Given the description of an element on the screen output the (x, y) to click on. 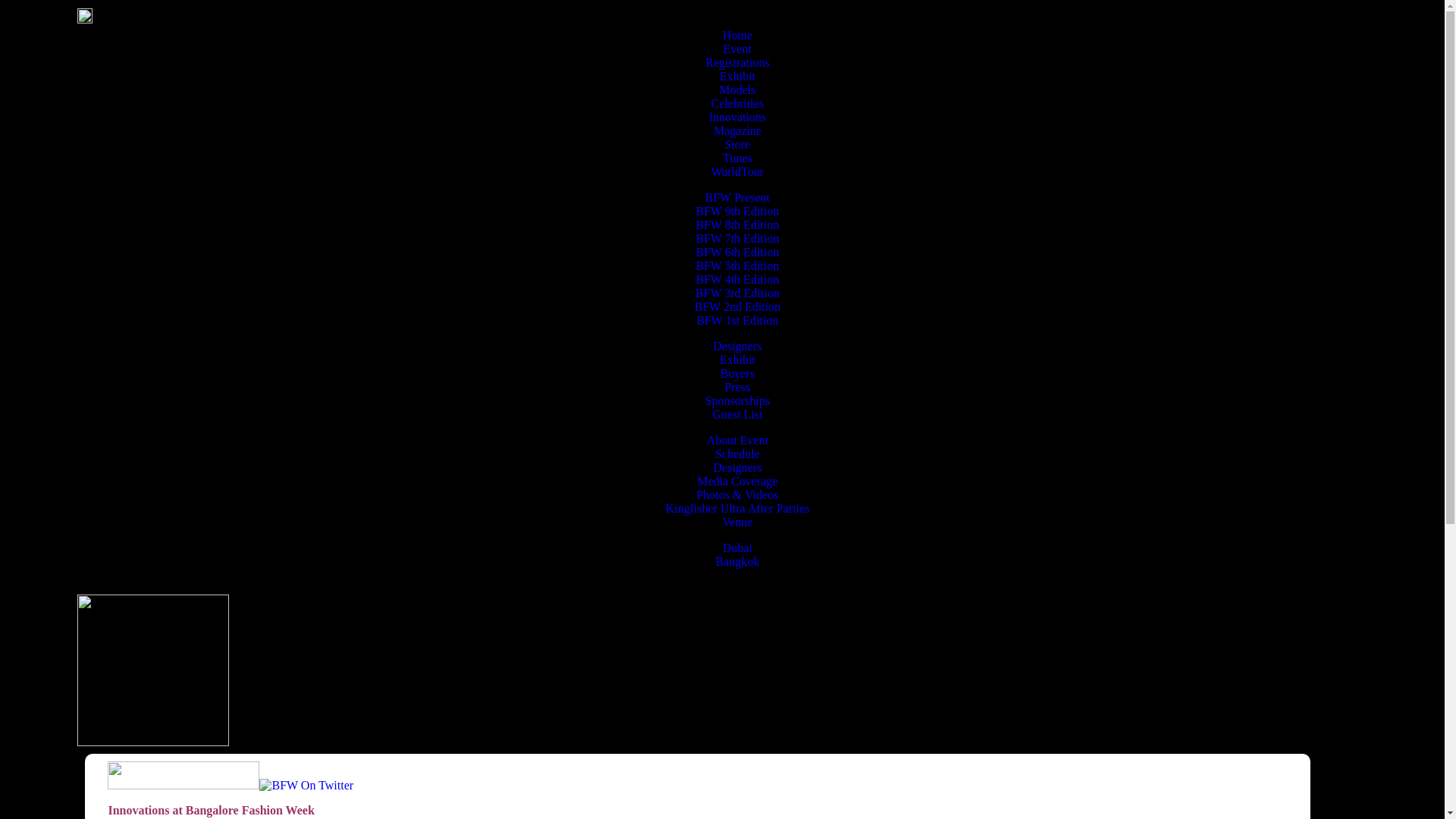
Press (738, 386)
Tunes (737, 157)
Designers (737, 345)
Models (737, 89)
Innovations (738, 116)
Exhibit (737, 359)
Sponsorships (737, 400)
BFW 8th Edition (736, 224)
BFW 4th Edition (736, 278)
Exhibit (737, 75)
BFW 2nd Edition (737, 306)
Venue (737, 521)
BFW 1st Edition (736, 319)
BFW 3rd Edition (736, 292)
BFW 5th Edition (736, 265)
